Given the description of an element on the screen output the (x, y) to click on. 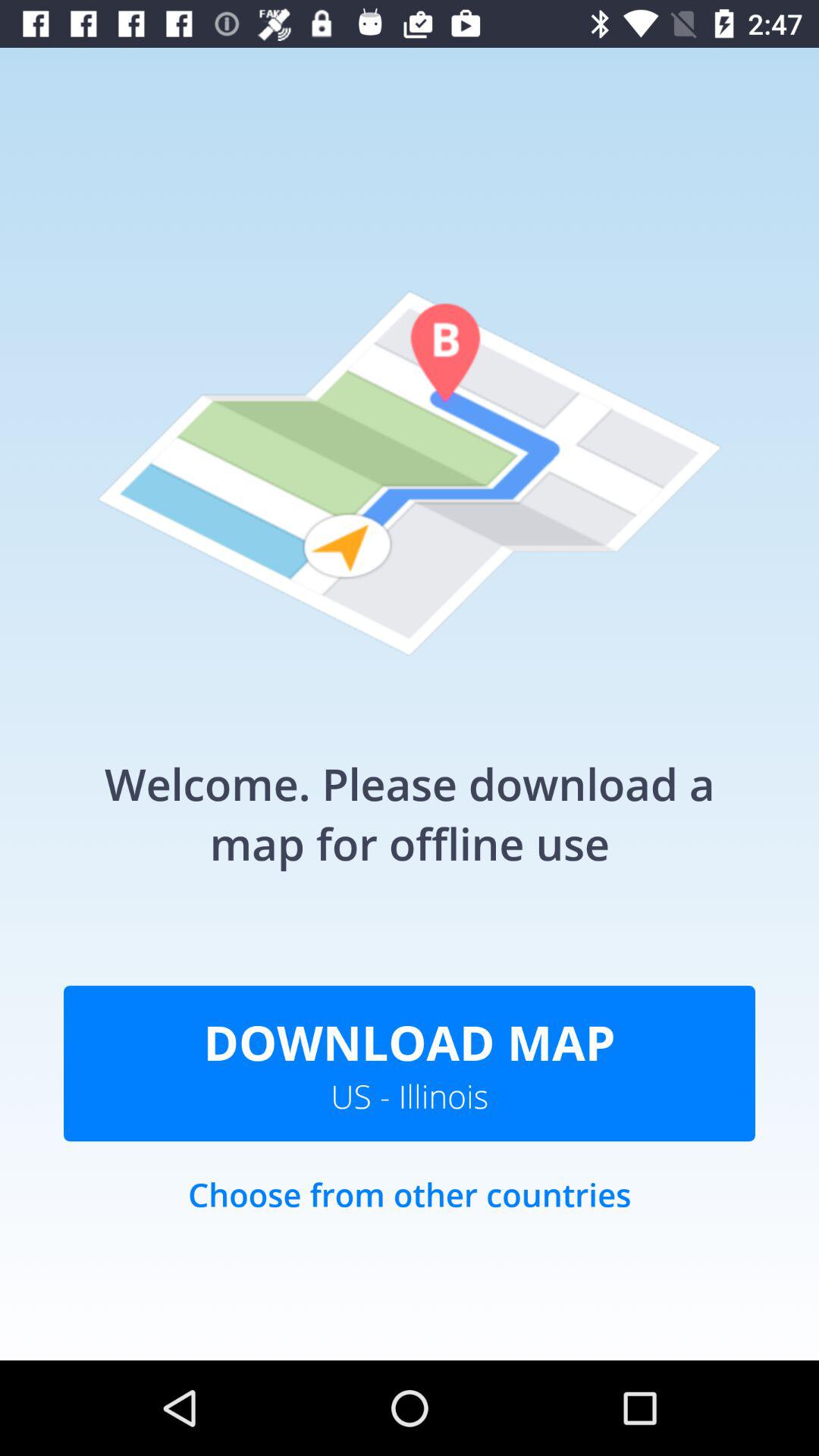
press item below the us - illinois item (409, 1210)
